Given the description of an element on the screen output the (x, y) to click on. 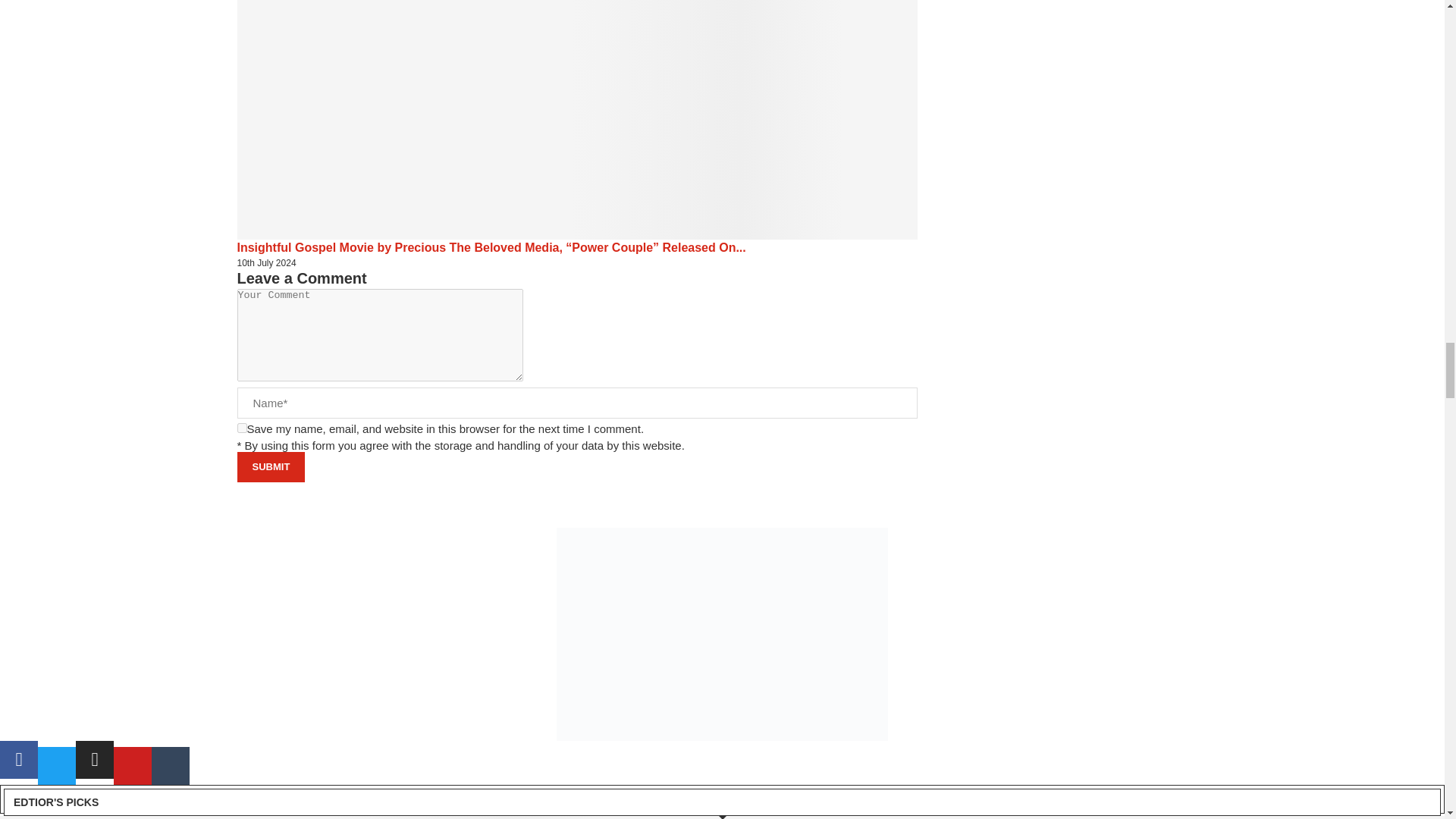
Submit (269, 467)
yes (240, 428)
